Given the description of an element on the screen output the (x, y) to click on. 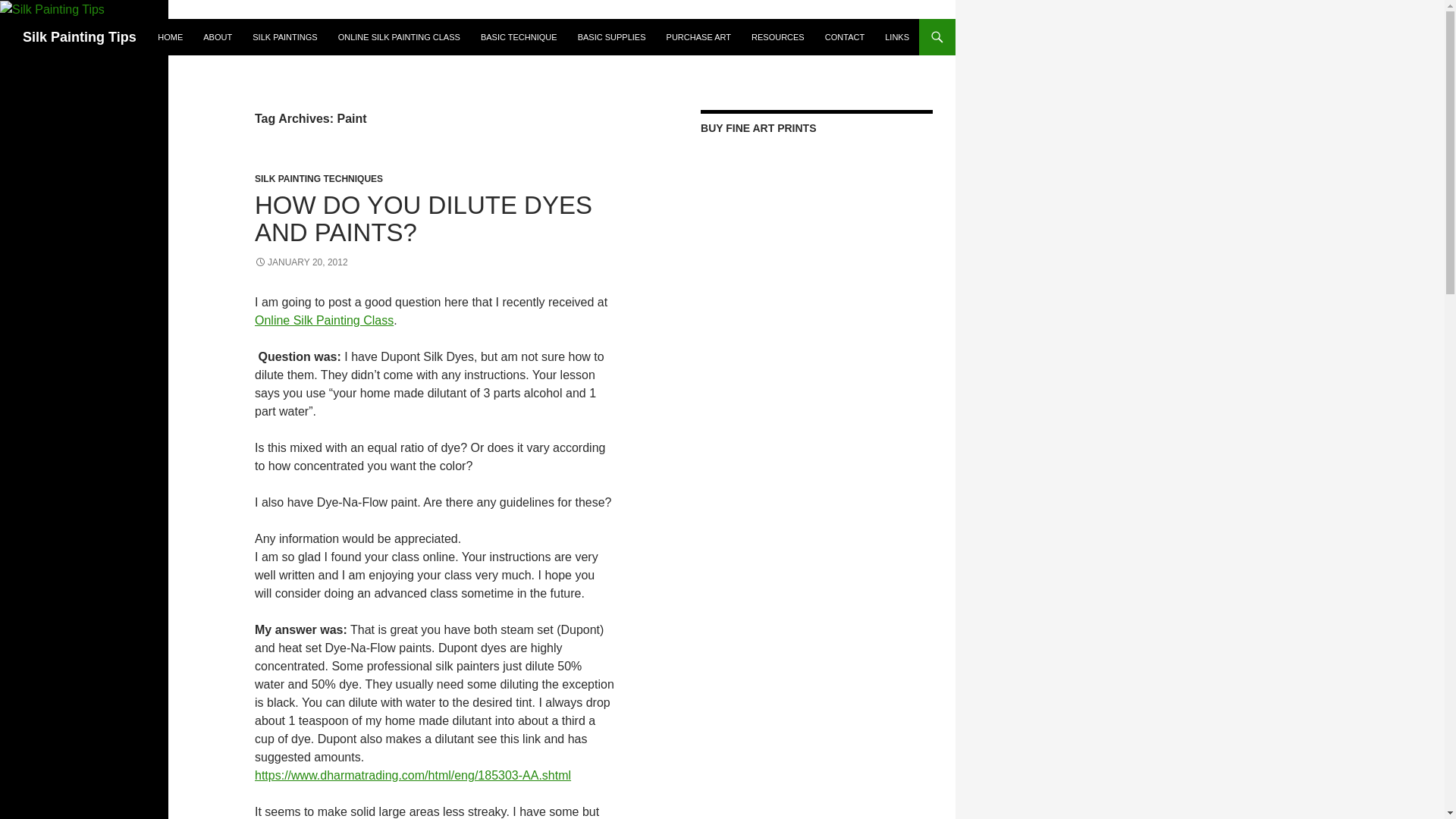
RESOURCES (777, 36)
ABOUT (217, 36)
JANUARY 20, 2012 (300, 262)
Silk Painting Tips (79, 36)
HOW DO YOU DILUTE DYES AND PAINTS? (423, 218)
Online Silk Painting Class (323, 319)
ONLINE SILK PAINTING CLASS (398, 36)
PURCHASE ART (698, 36)
LINKS (897, 36)
Dharma Trading Company (412, 775)
HOME (170, 36)
About this site and Francine Dufour Jones (217, 36)
CONTACT (844, 36)
